Given the description of an element on the screen output the (x, y) to click on. 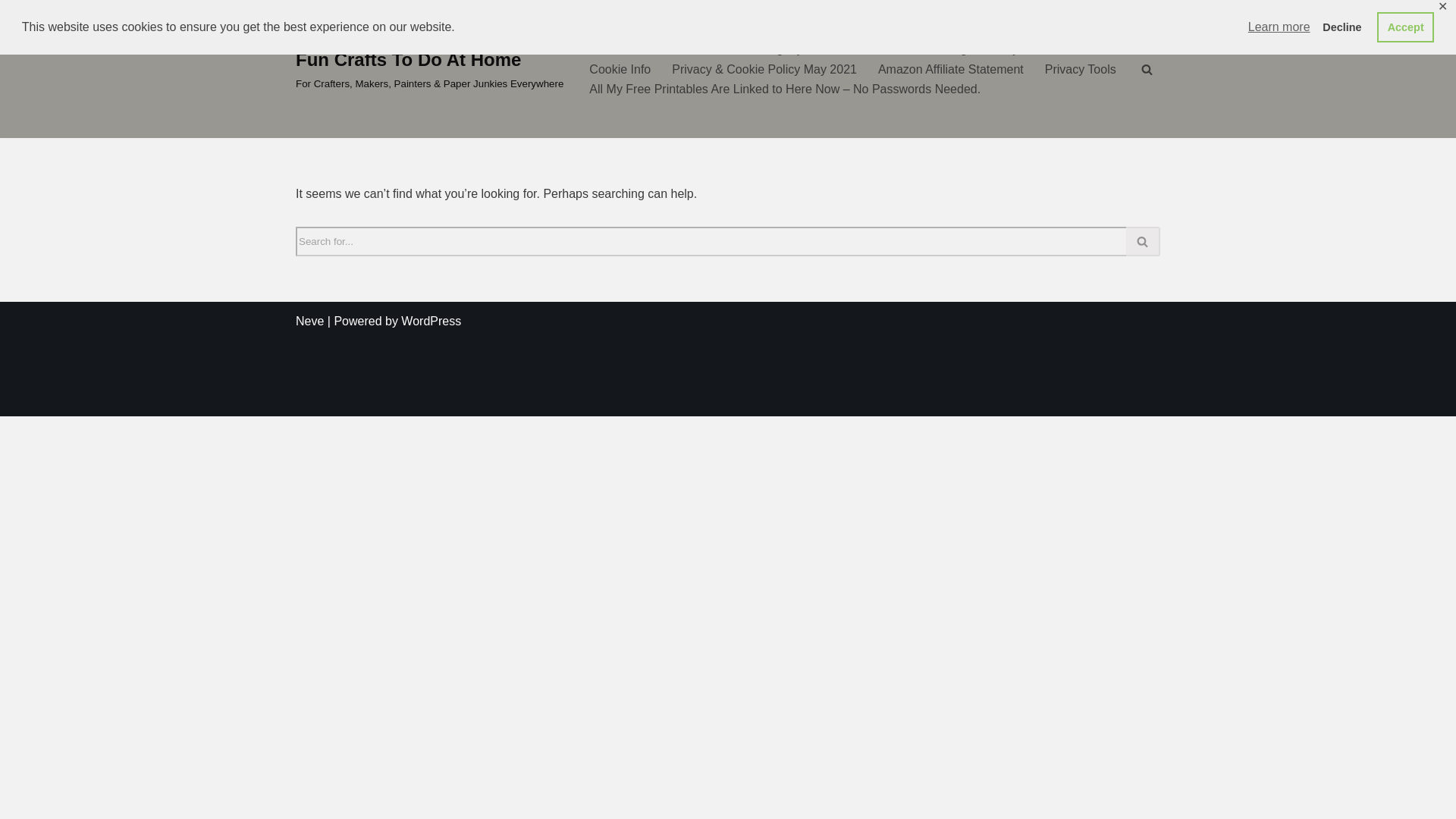
About Fun Crafts (635, 48)
Accept (1405, 27)
Home Page (942, 48)
Neve (309, 320)
WordPress (431, 320)
Amazon Affiliate Statement (950, 68)
Learn more (1279, 26)
Terms of Using My Free Printables (794, 48)
Decline (1342, 27)
Privacy Tools (1080, 68)
Cookie Info (619, 68)
Advertisement (727, 382)
Skip to content (11, 31)
